Given the description of an element on the screen output the (x, y) to click on. 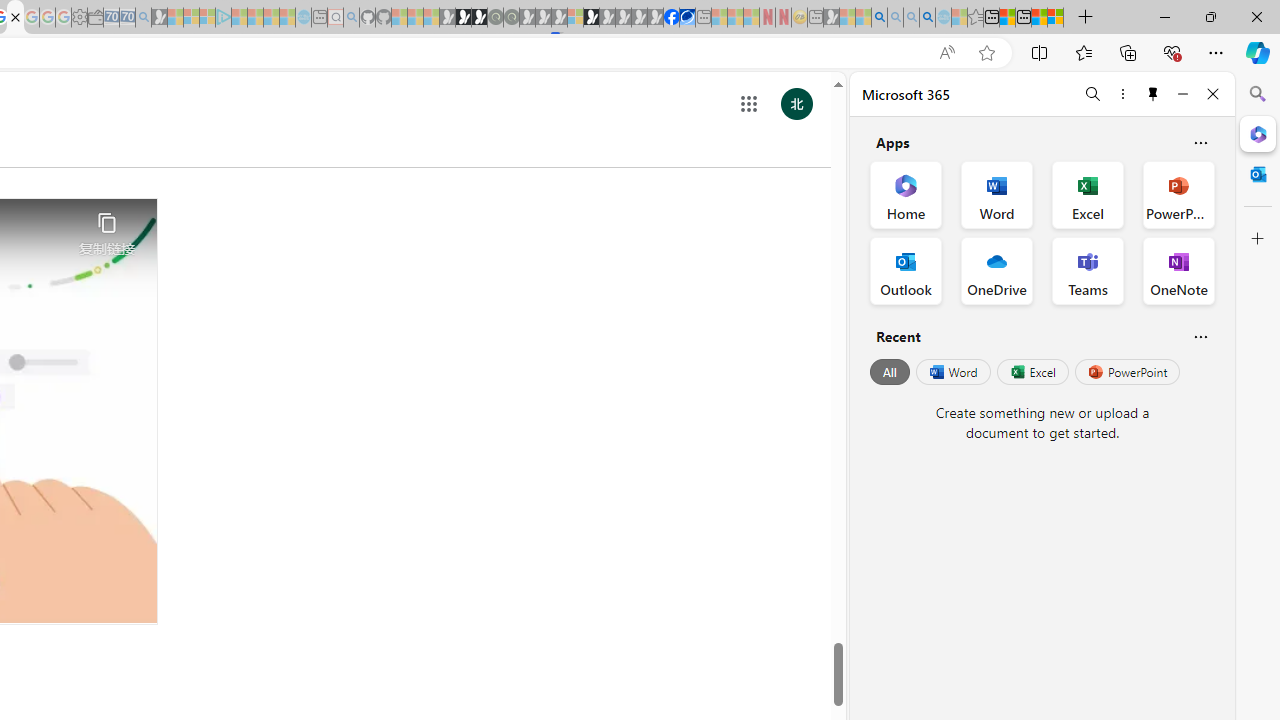
Excel Office App (1087, 194)
Is this helpful? (1200, 336)
